Given the description of an element on the screen output the (x, y) to click on. 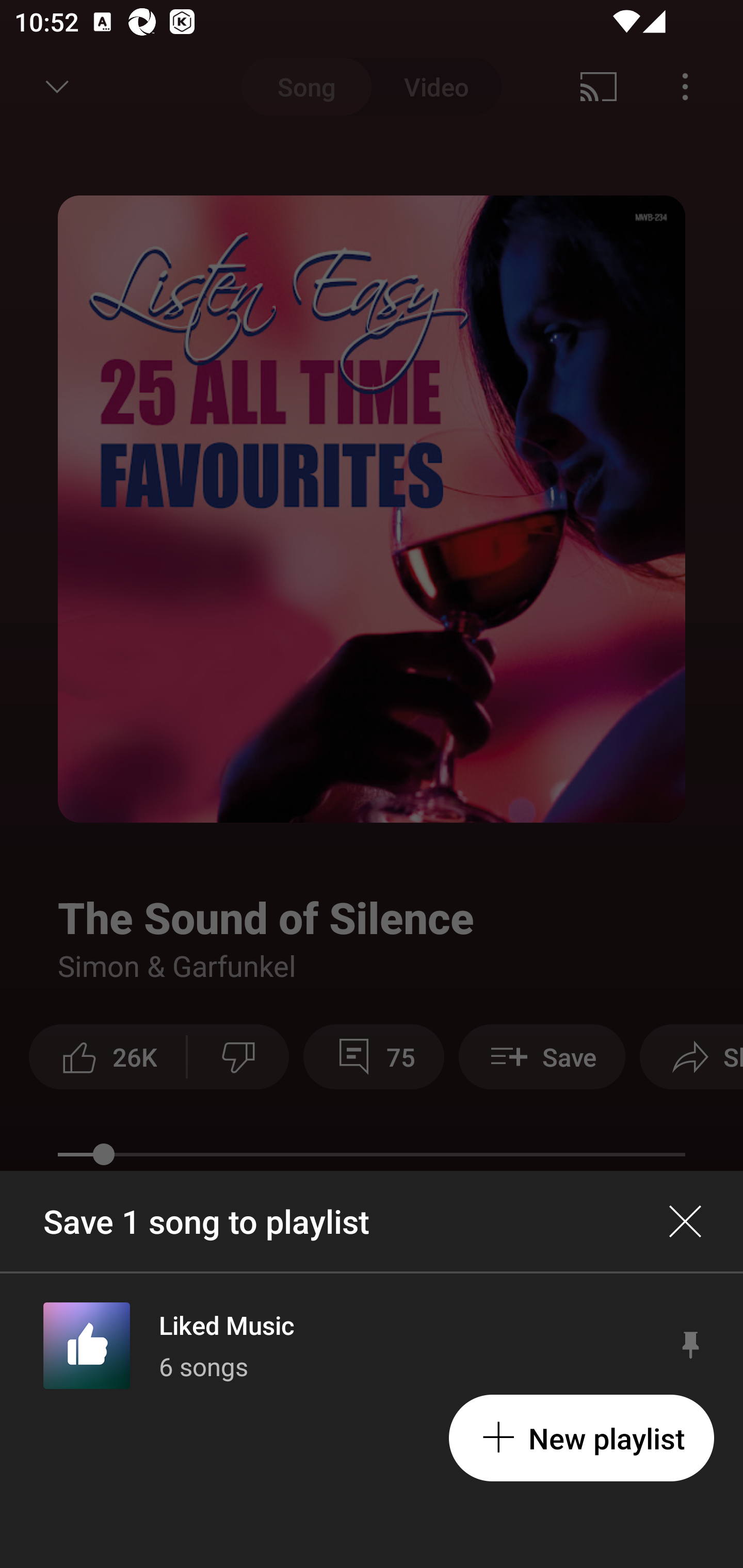
Close (685, 1221)
New playlist (581, 1437)
